Given the description of an element on the screen output the (x, y) to click on. 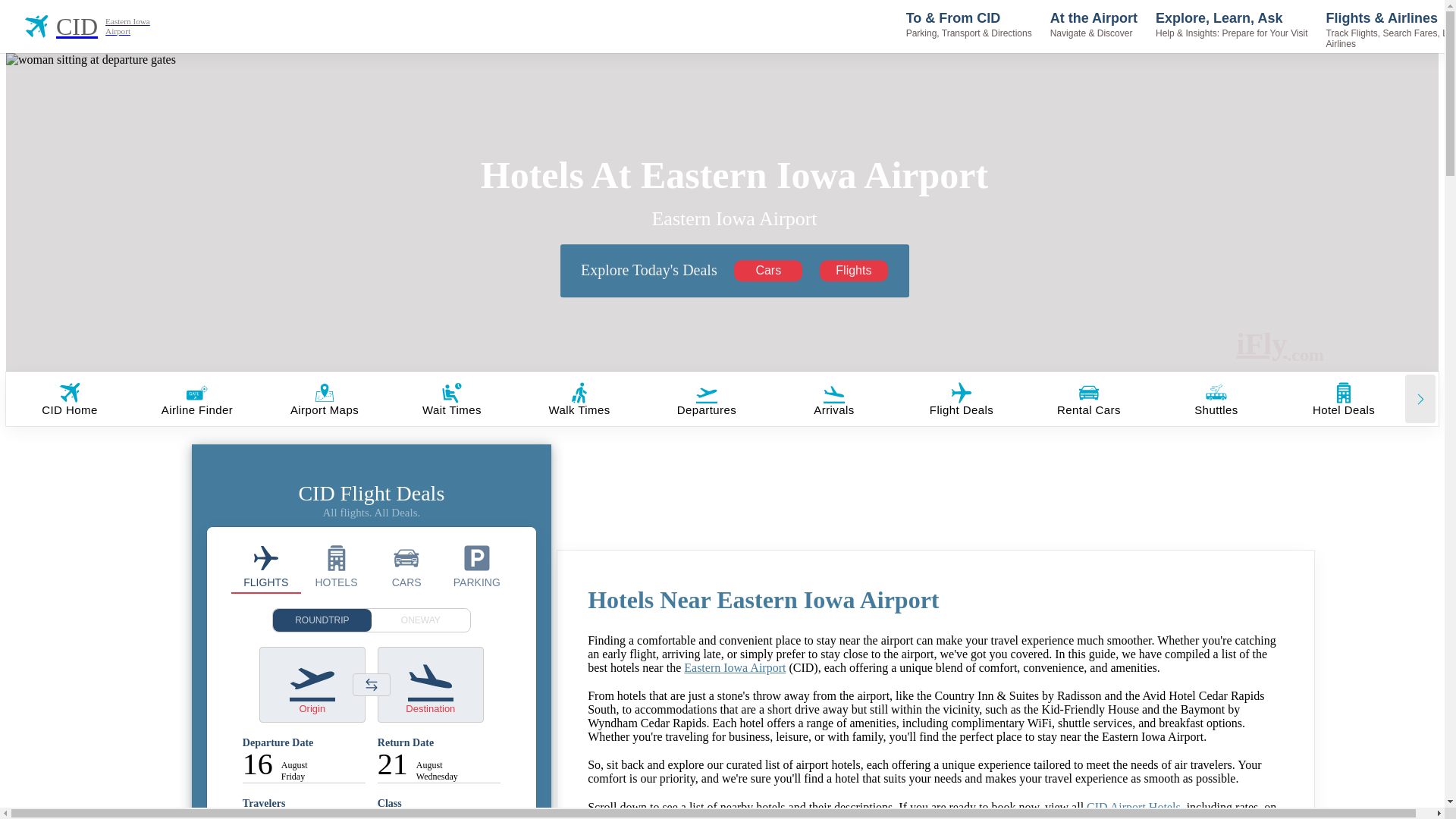
CID Flight Deals (266, 565)
Airport Rental Cars (406, 565)
Flights (853, 270)
Cars (767, 270)
Hotel Deals (336, 565)
iFly.com (1279, 345)
Off-Airport Parking (476, 565)
